Given the description of an element on the screen output the (x, y) to click on. 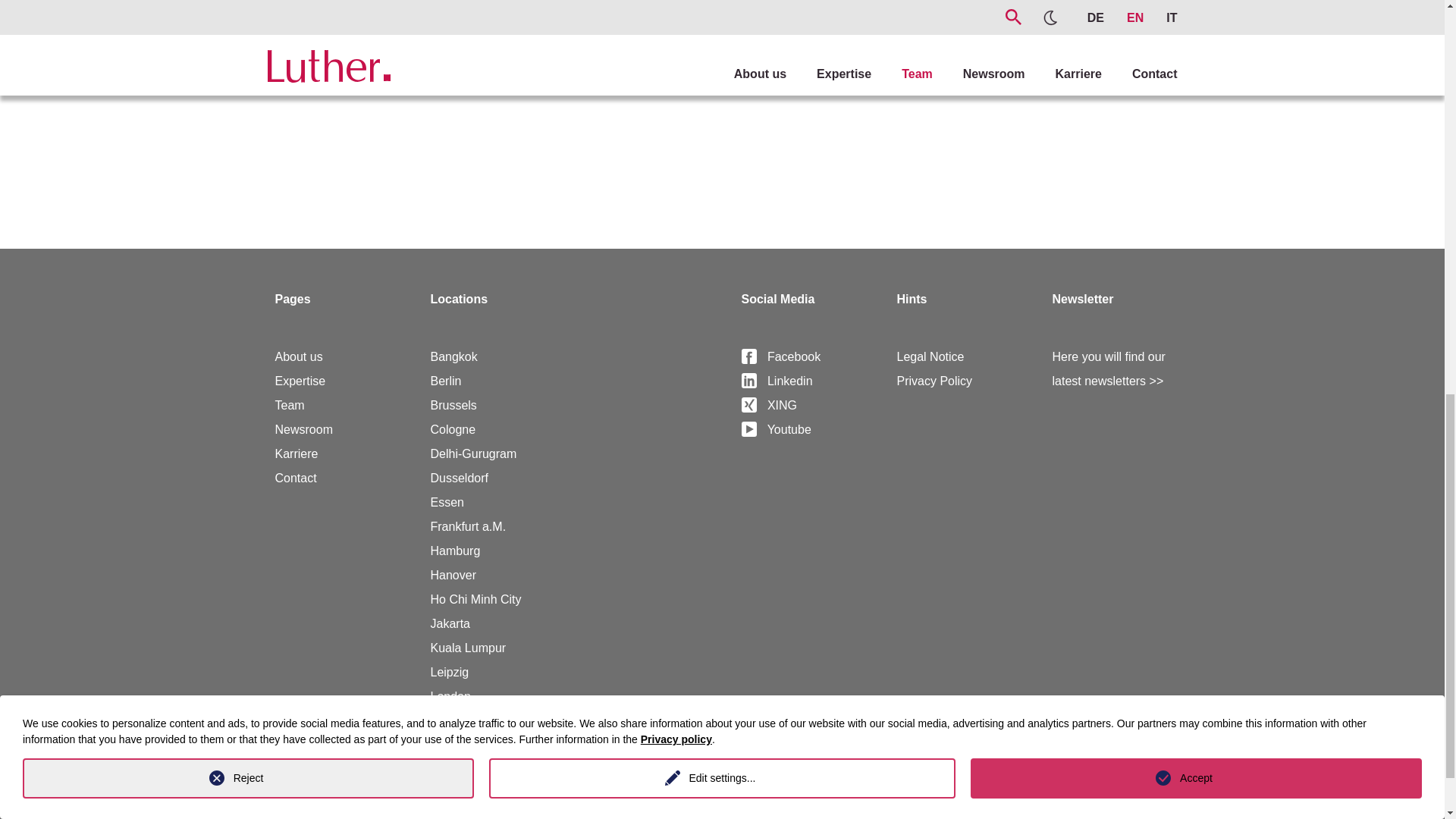
Delhi-Gurugram (473, 453)
Delhi-Gurugram (473, 453)
Hamburg (455, 550)
Bangkok (453, 356)
About us (298, 356)
Dusseldorf (458, 477)
Essen (447, 502)
Newsroom (303, 429)
Berlin (445, 380)
Berlin (445, 380)
Expertise (299, 380)
Bangkok (453, 356)
Cologne (453, 429)
Brussels (453, 404)
Team (289, 404)
